Given the description of an element on the screen output the (x, y) to click on. 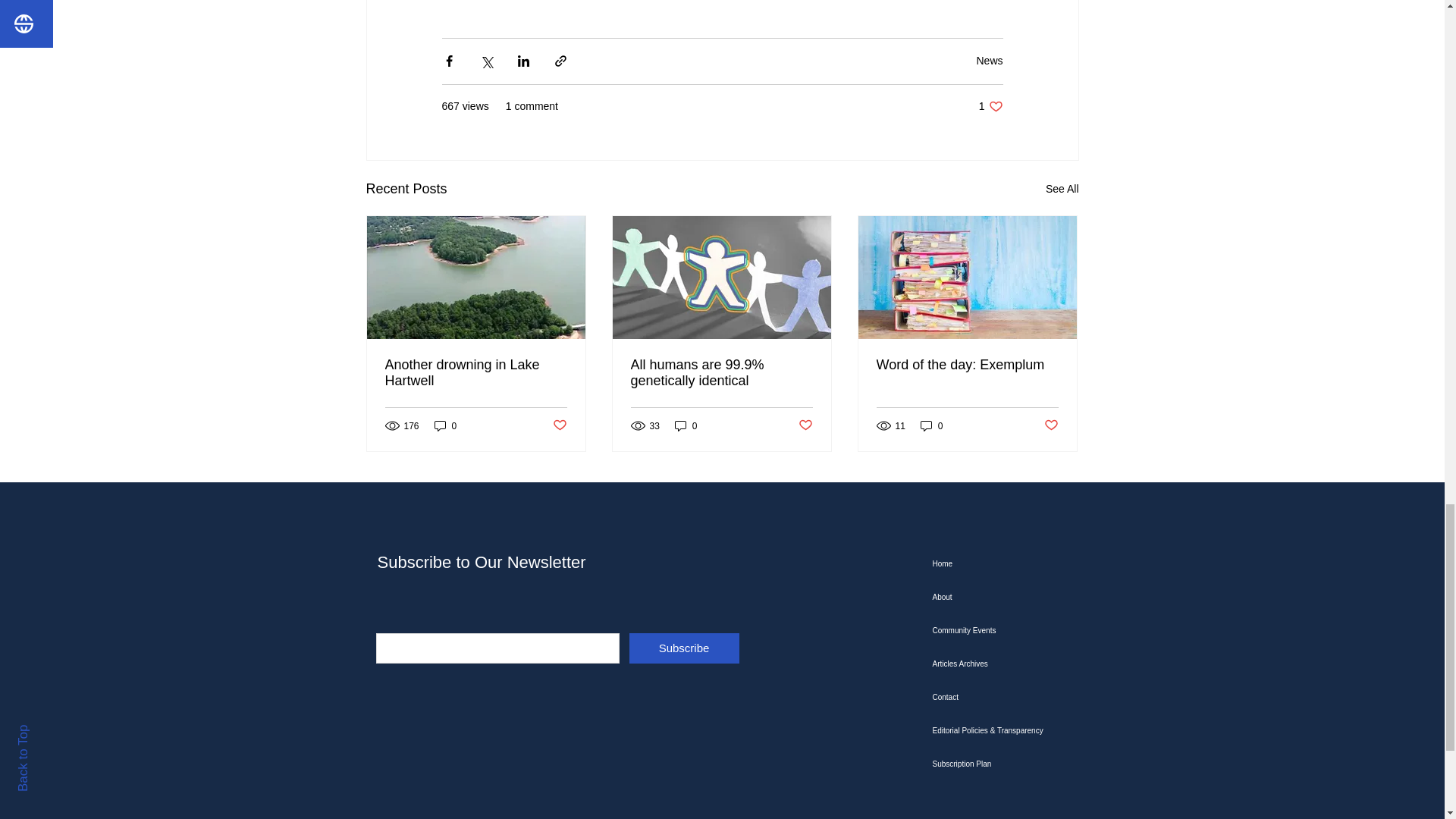
News (989, 60)
